Given the description of an element on the screen output the (x, y) to click on. 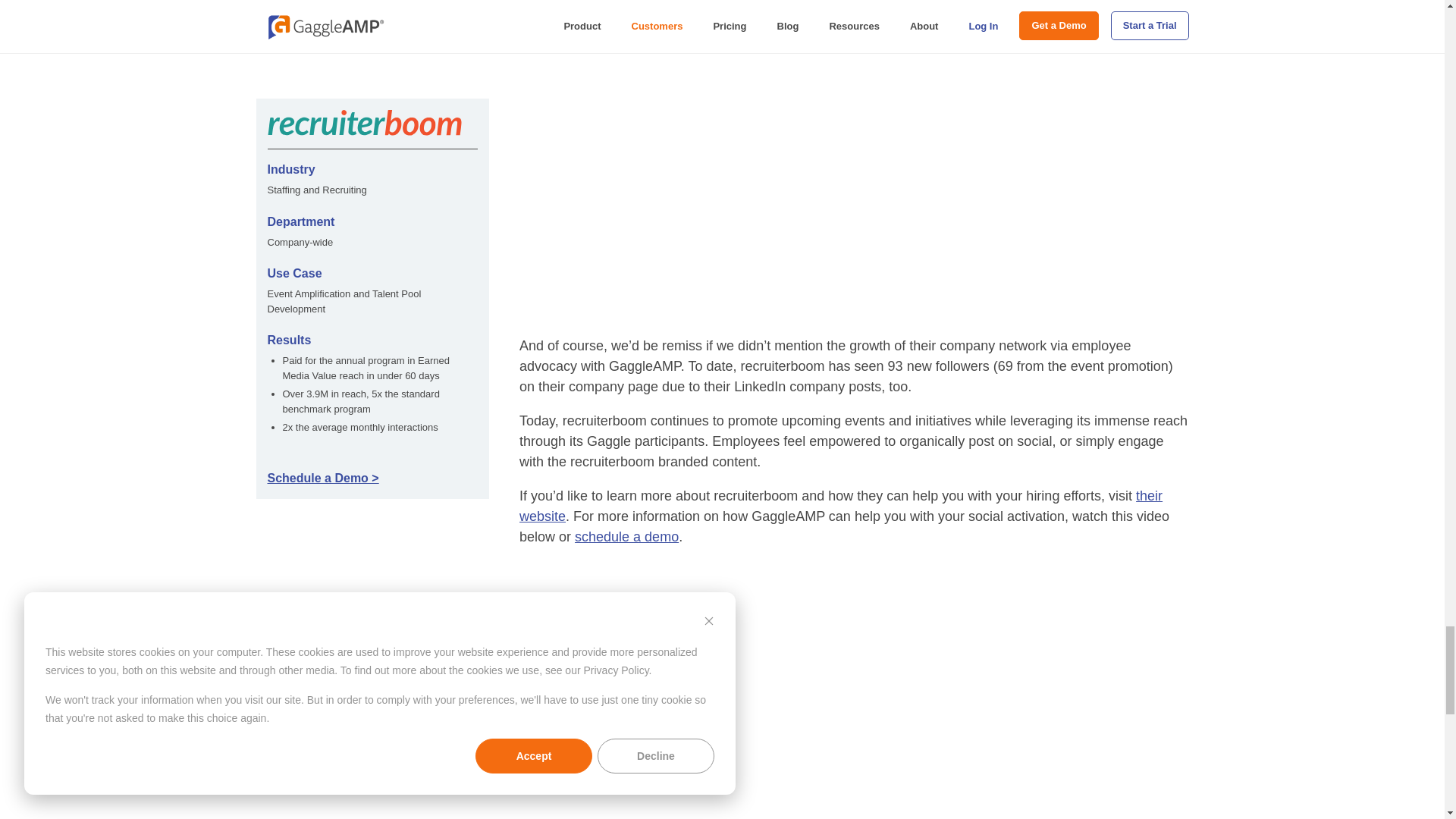
their website (840, 506)
schedule a demo (626, 536)
